Given the description of an element on the screen output the (x, y) to click on. 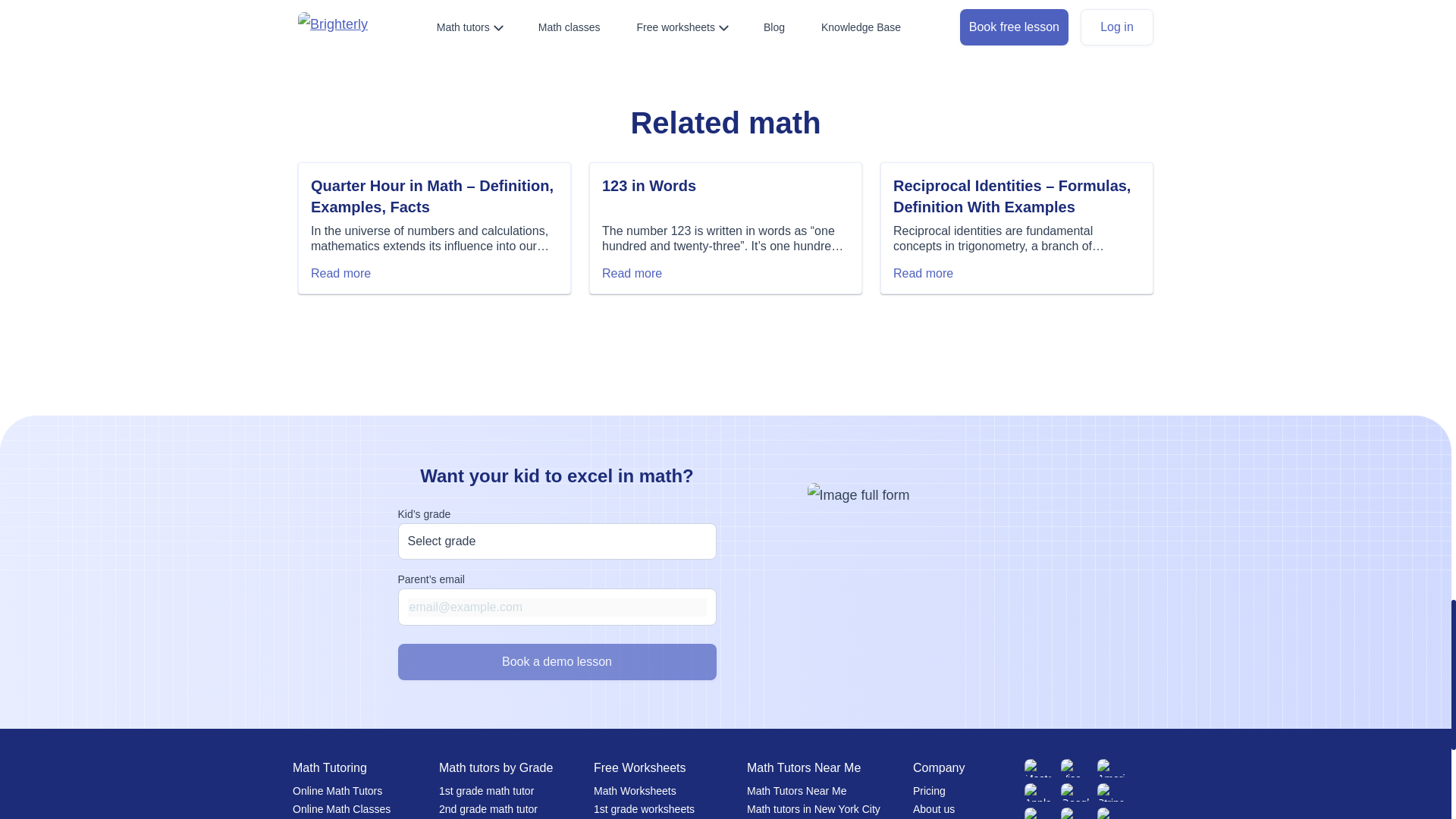
Book a demo lesson (556, 661)
Book a demo lesson (556, 661)
Read more (632, 273)
Read more (923, 273)
Read more (341, 273)
Select grade (556, 541)
